Given the description of an element on the screen output the (x, y) to click on. 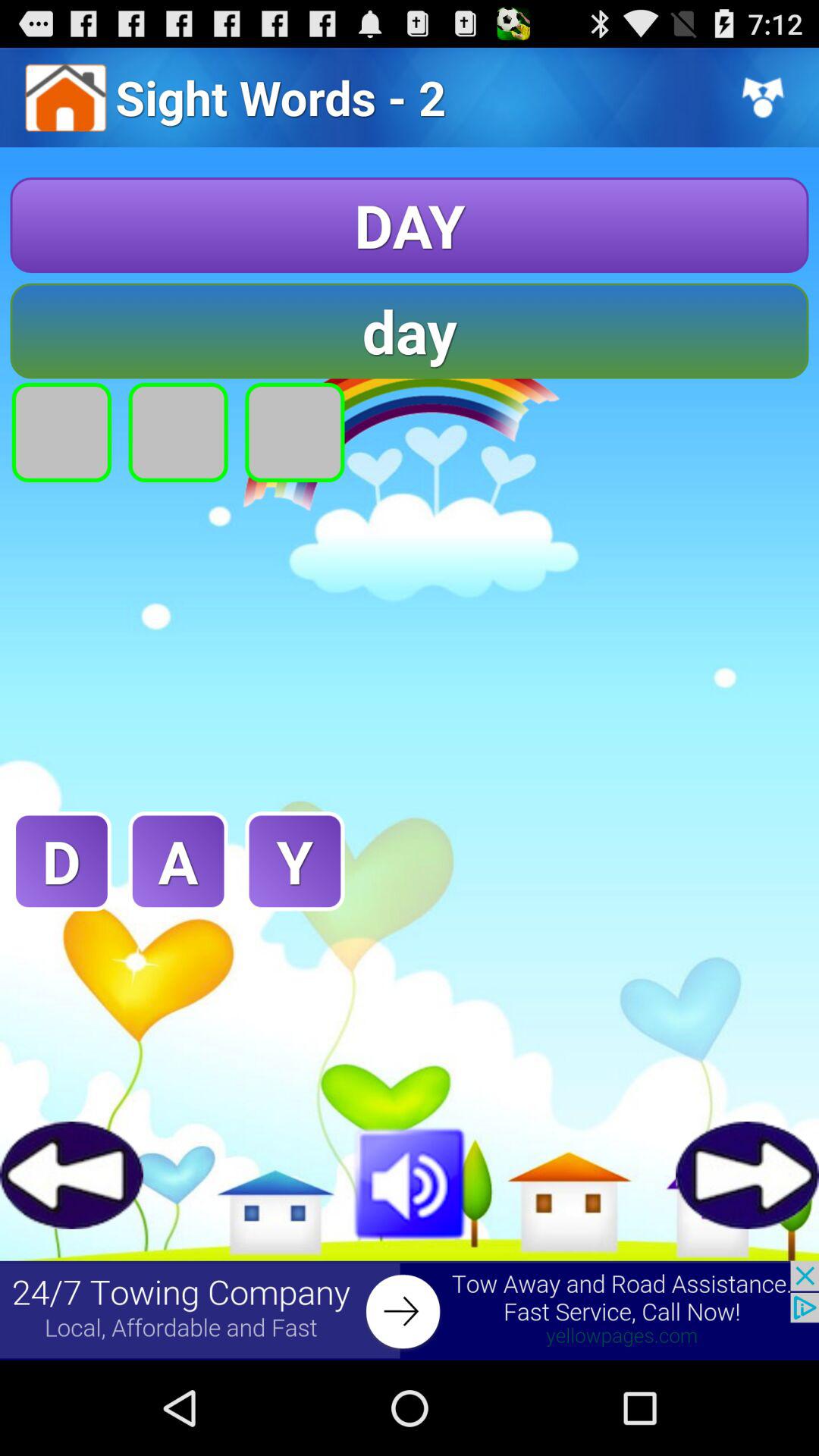
sound button (409, 1181)
